Given the description of an element on the screen output the (x, y) to click on. 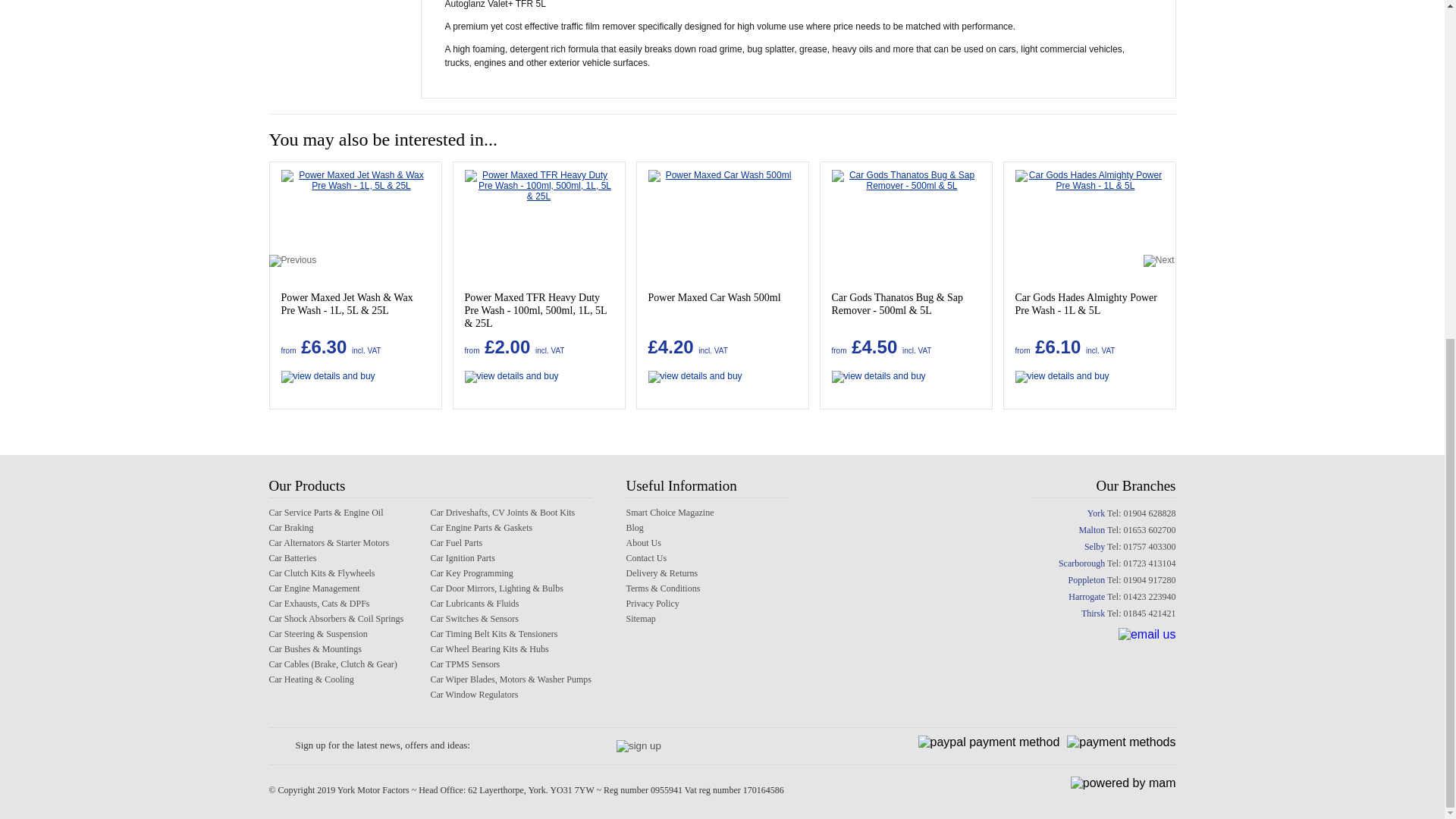
Previous (291, 260)
sign up (638, 746)
Next (1158, 260)
